Given the description of an element on the screen output the (x, y) to click on. 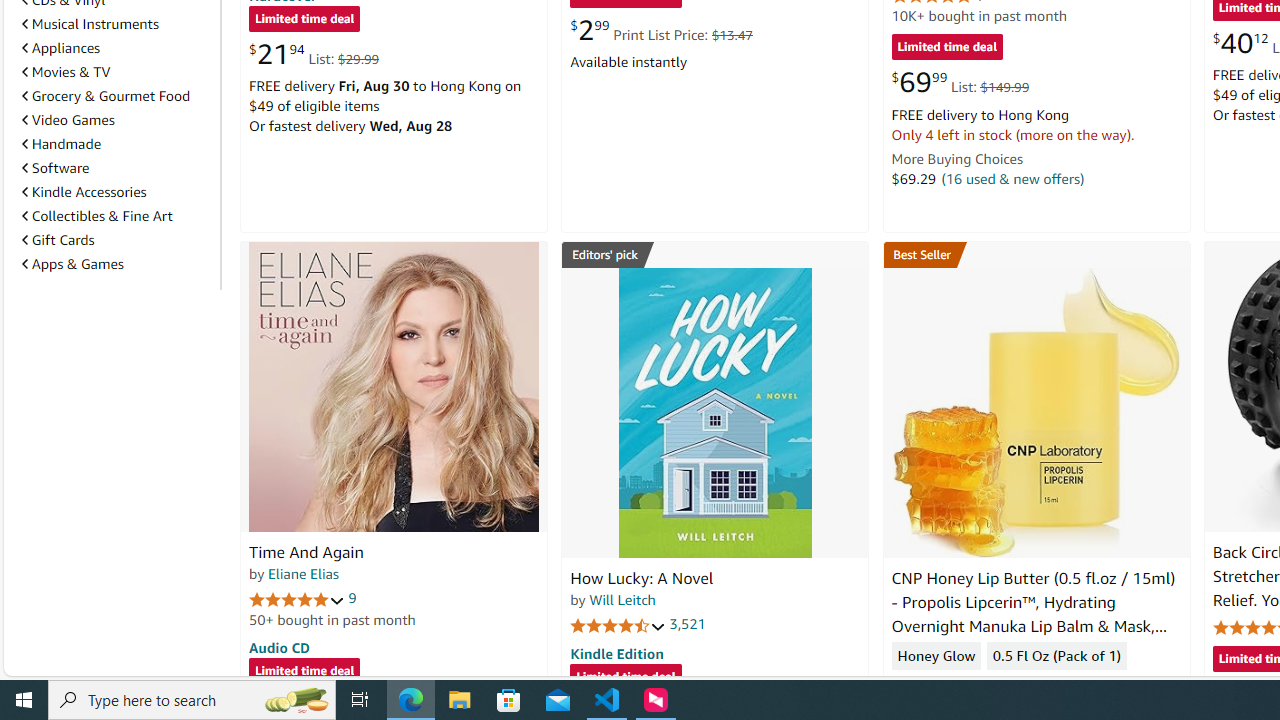
Collectibles & Fine Art (117, 215)
Appliances (61, 47)
Time And Again (393, 386)
Software (117, 167)
Time And Again (306, 552)
Gift Cards (117, 239)
Kindle Edition (616, 653)
Will Leitch (621, 599)
Grocery & Gourmet Food (117, 95)
4.3 out of 5 stars (939, 685)
Movies & TV (117, 71)
$2.99 Print List Price: $13.47 (660, 30)
How Lucky: A Novel (641, 578)
9 (352, 597)
